Given the description of an element on the screen output the (x, y) to click on. 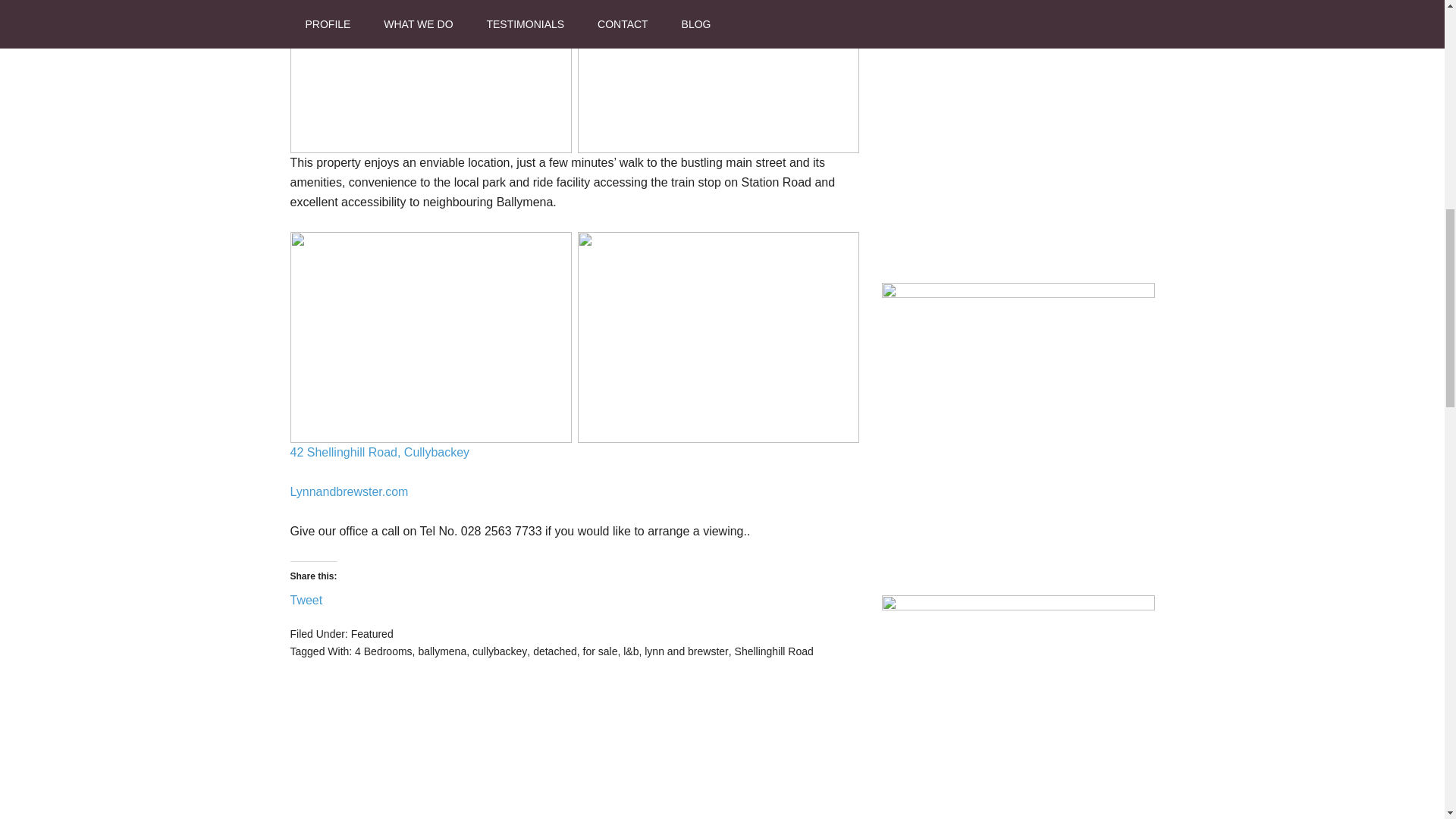
Shellinghill Road (774, 651)
for sale (600, 651)
detached (554, 651)
lynn and brewster (687, 651)
42 Shellinghill Road, Cullybackey (378, 451)
4 Bedrooms (383, 651)
Featured (371, 633)
Lynnandbrewster.com (348, 491)
Tweet (305, 597)
ballymena (441, 651)
